Given the description of an element on the screen output the (x, y) to click on. 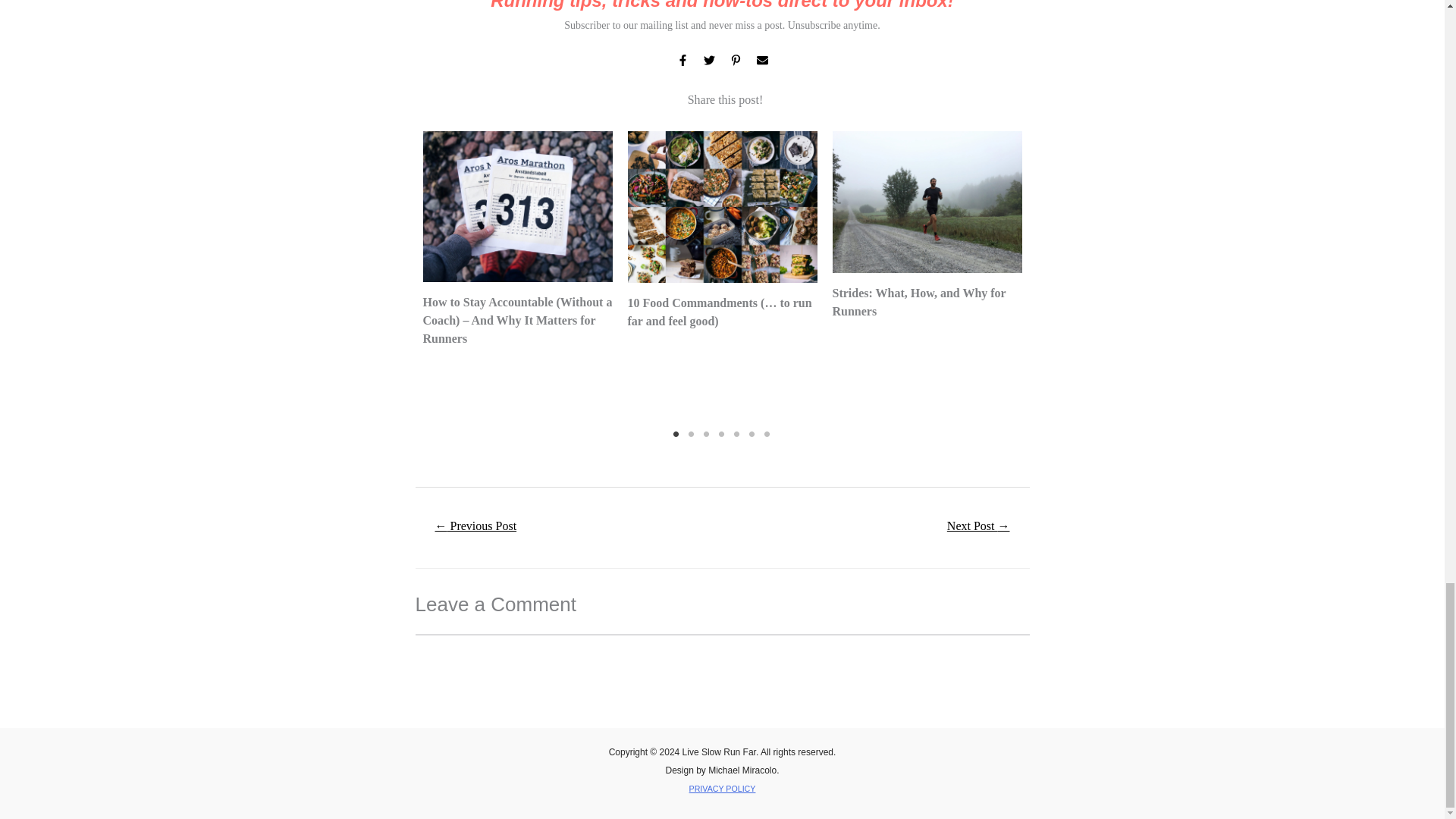
Strides: What, How, and Why for Runners (919, 301)
